Given the description of an element on the screen output the (x, y) to click on. 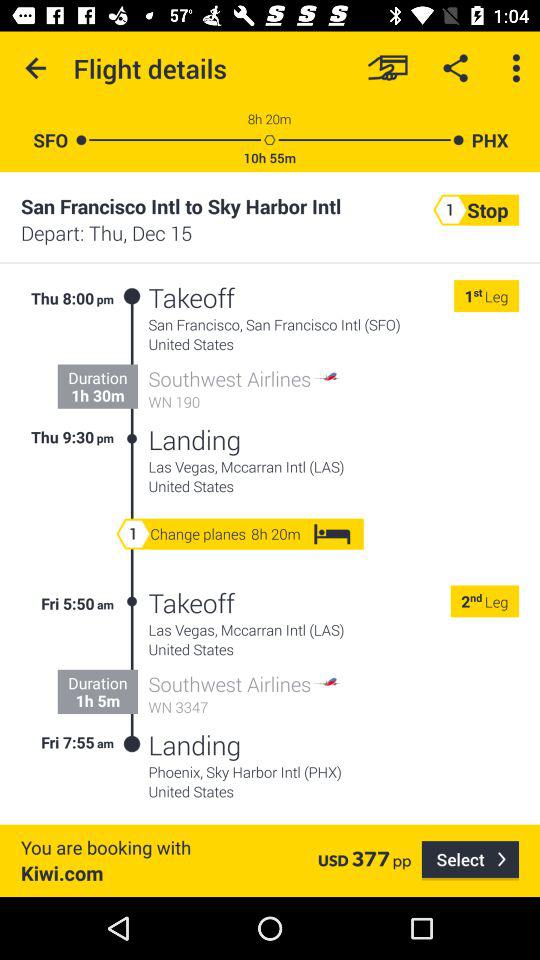
tap icon to the left of the takeoff item (131, 368)
